Given the description of an element on the screen output the (x, y) to click on. 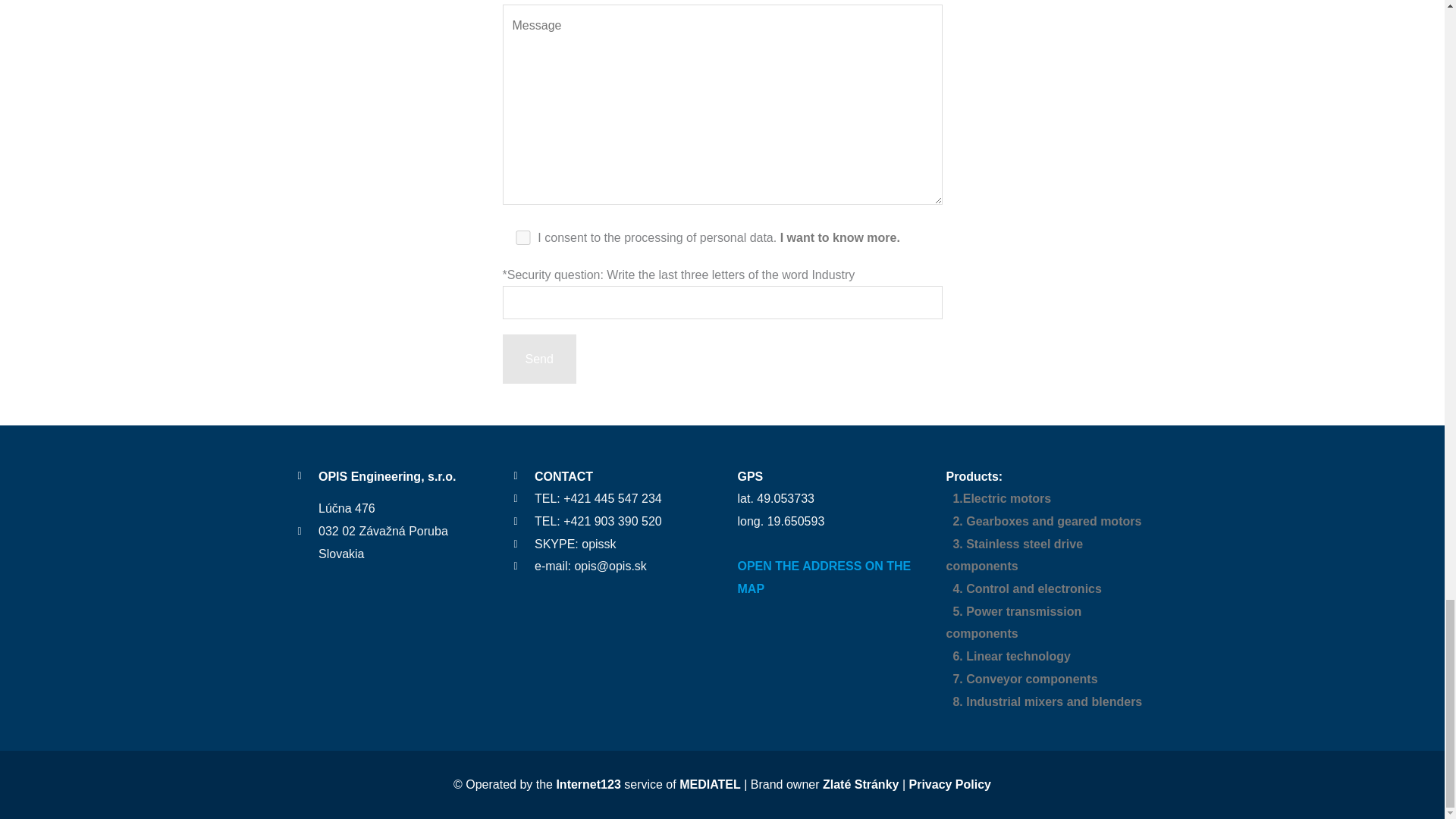
Send (538, 359)
1 (522, 237)
